Given the description of an element on the screen output the (x, y) to click on. 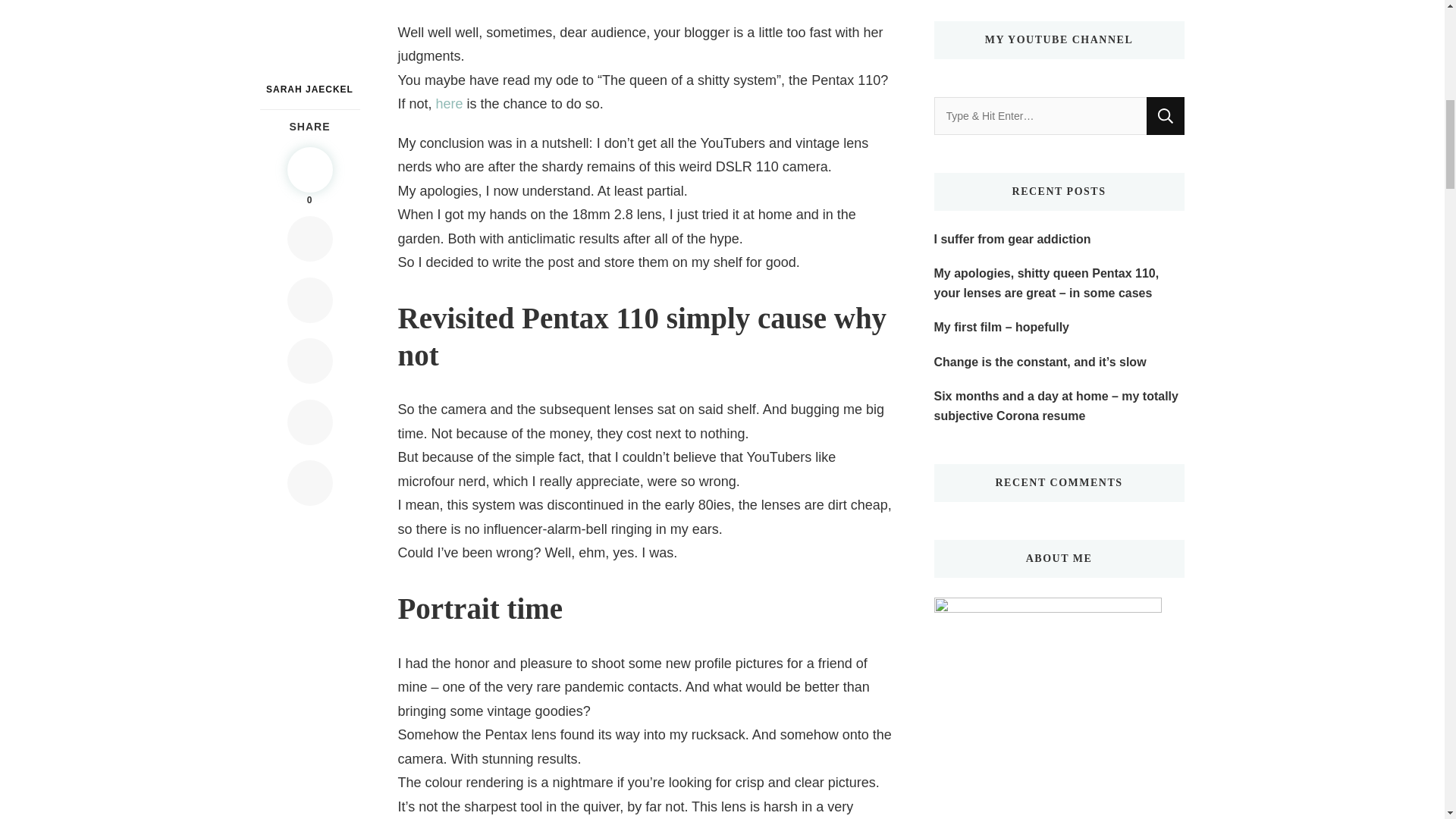
Search (1166, 116)
Search (1166, 116)
